Given the description of an element on the screen output the (x, y) to click on. 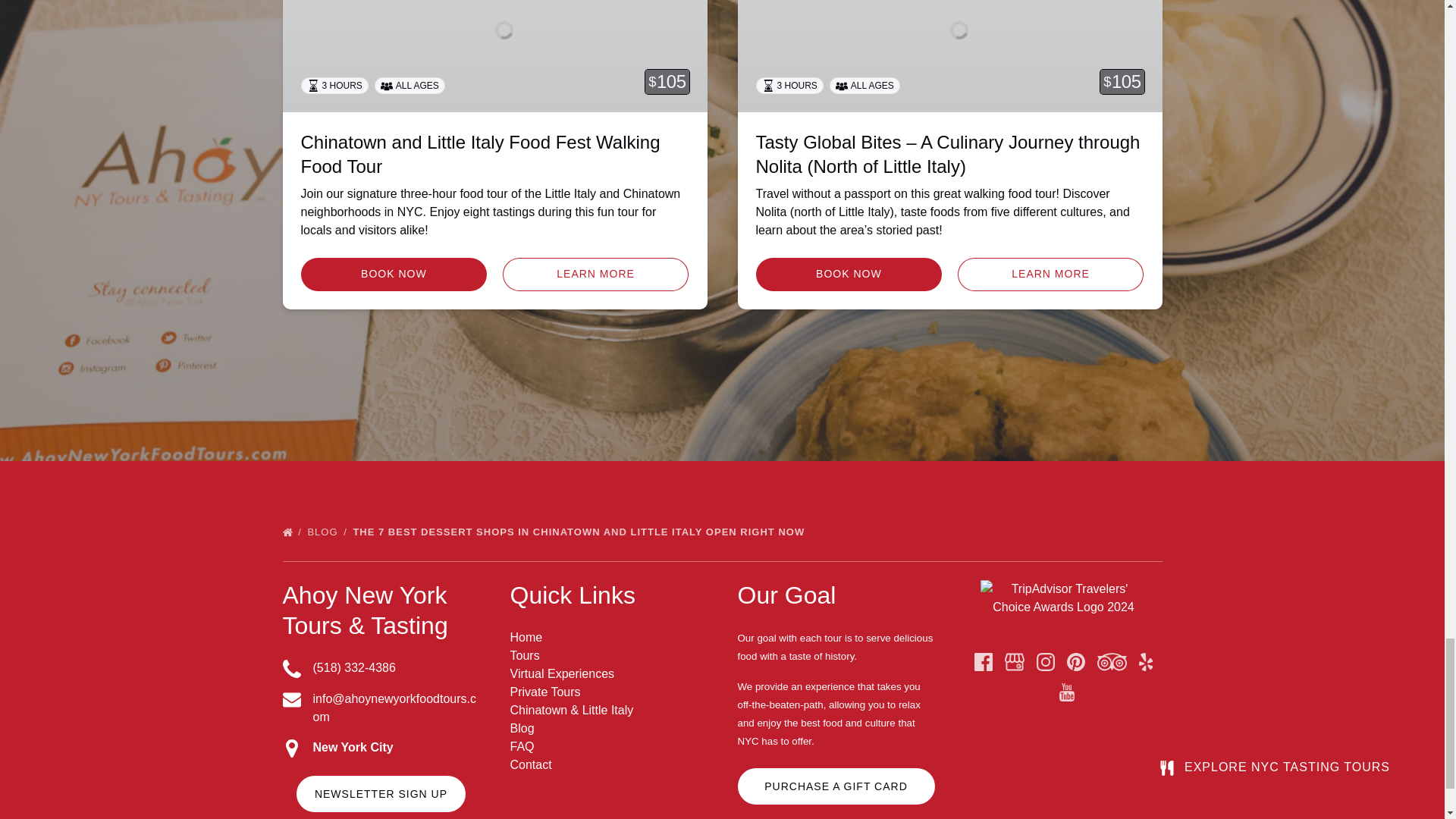
Phone (290, 669)
Envelope (290, 700)
Map Marker (290, 748)
